Given the description of an element on the screen output the (x, y) to click on. 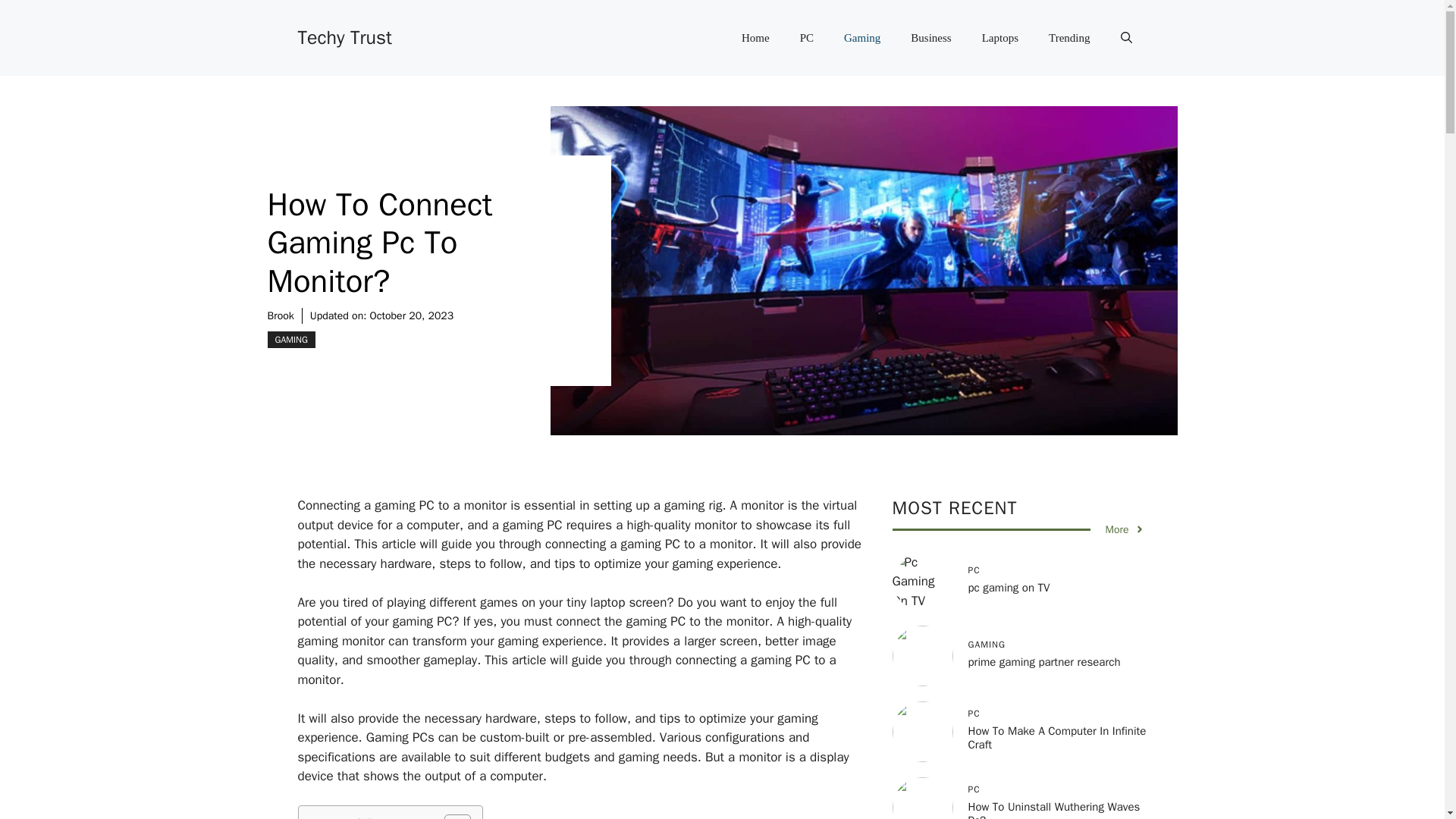
PC (806, 37)
Brook (280, 315)
Gaming (861, 37)
Trending (1069, 37)
Business (930, 37)
GAMING (290, 339)
Techy Trust (344, 37)
Home (755, 37)
Laptops (999, 37)
